Given the description of an element on the screen output the (x, y) to click on. 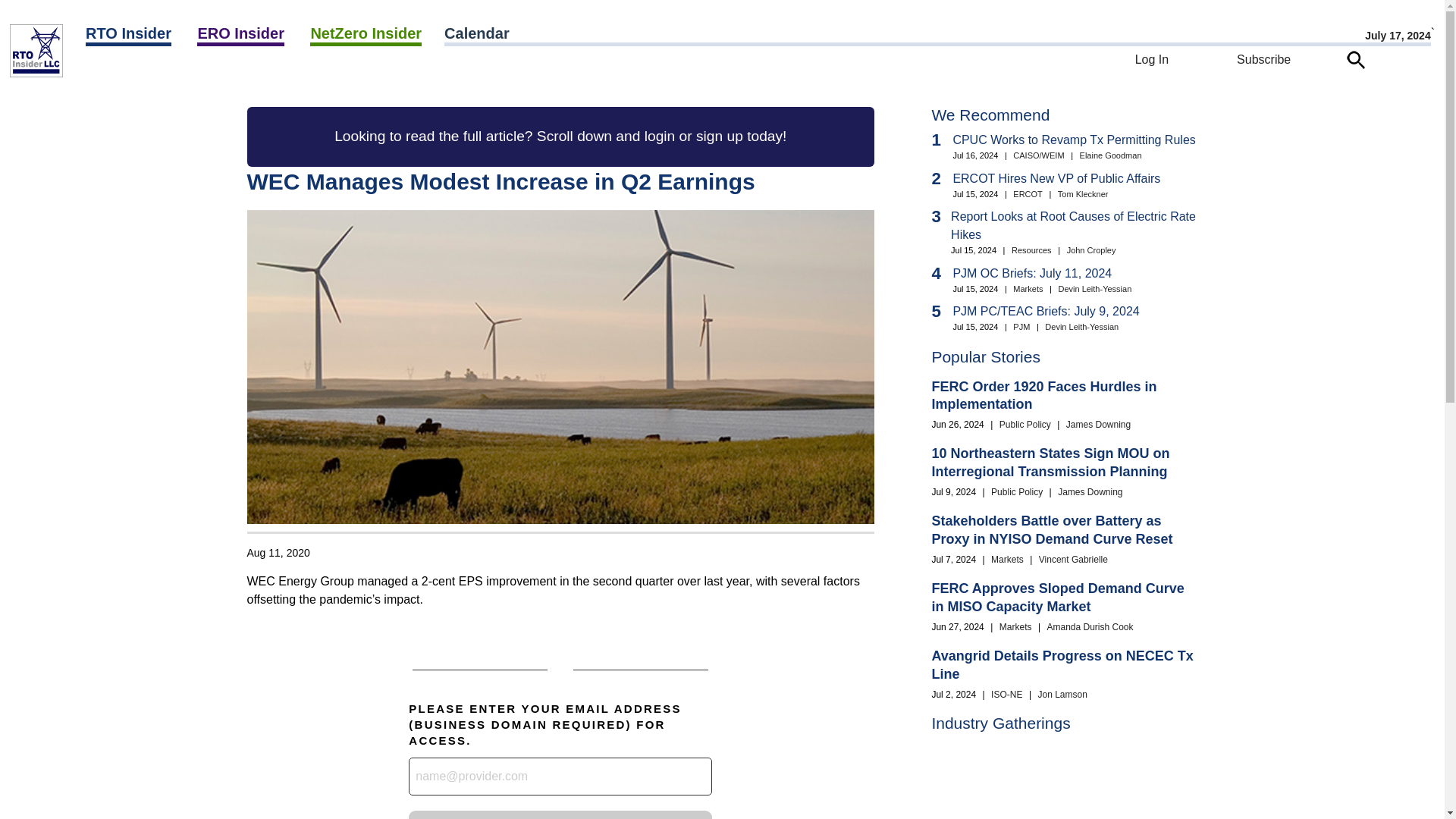
ERCOT (168, 72)
RTO Insider (128, 34)
ISO-NE (178, 72)
MISO (182, 72)
